Given the description of an element on the screen output the (x, y) to click on. 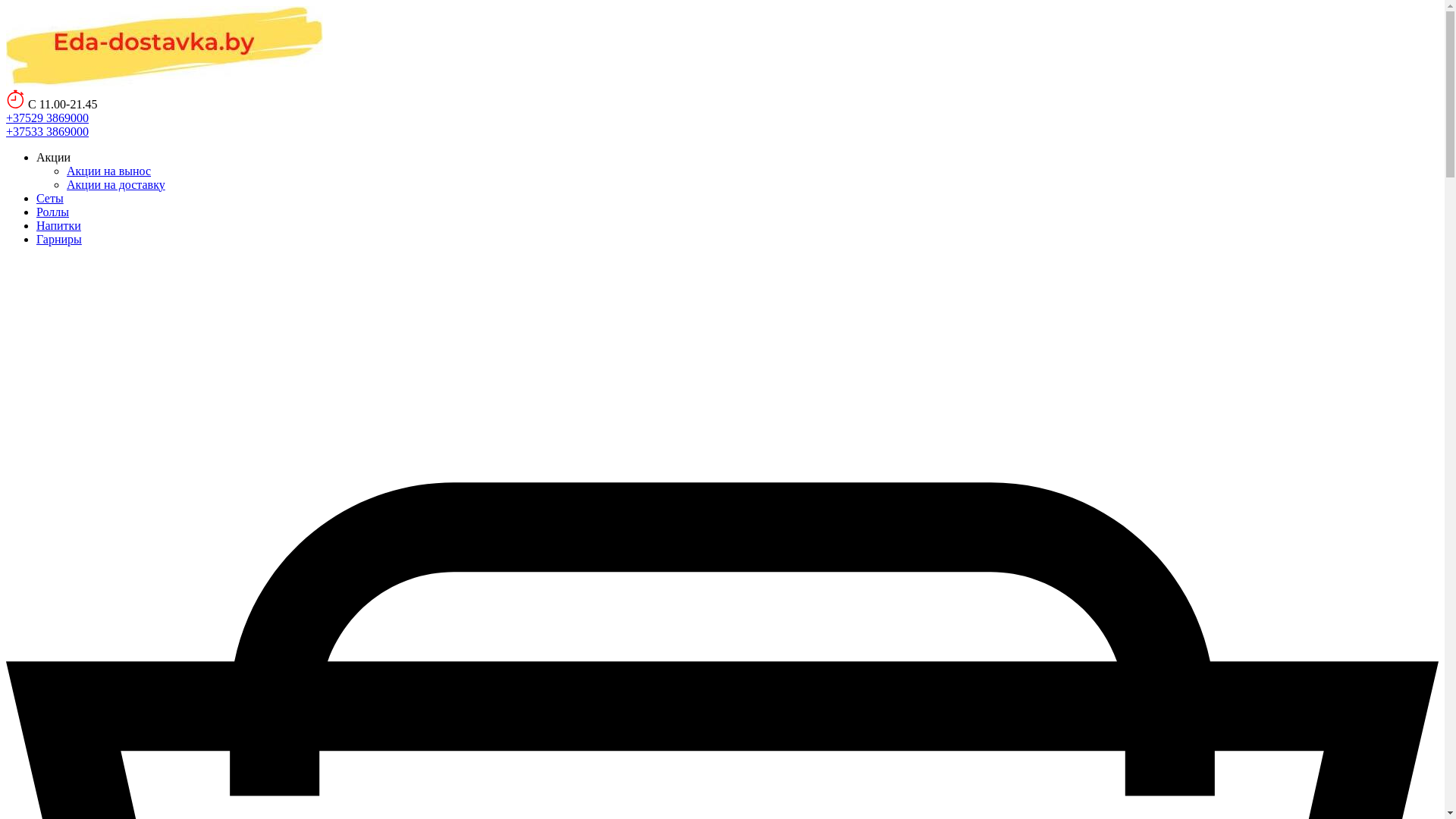
+37533 3869000 Element type: text (47, 130)
+37529 3869000 Element type: text (47, 116)
